Given the description of an element on the screen output the (x, y) to click on. 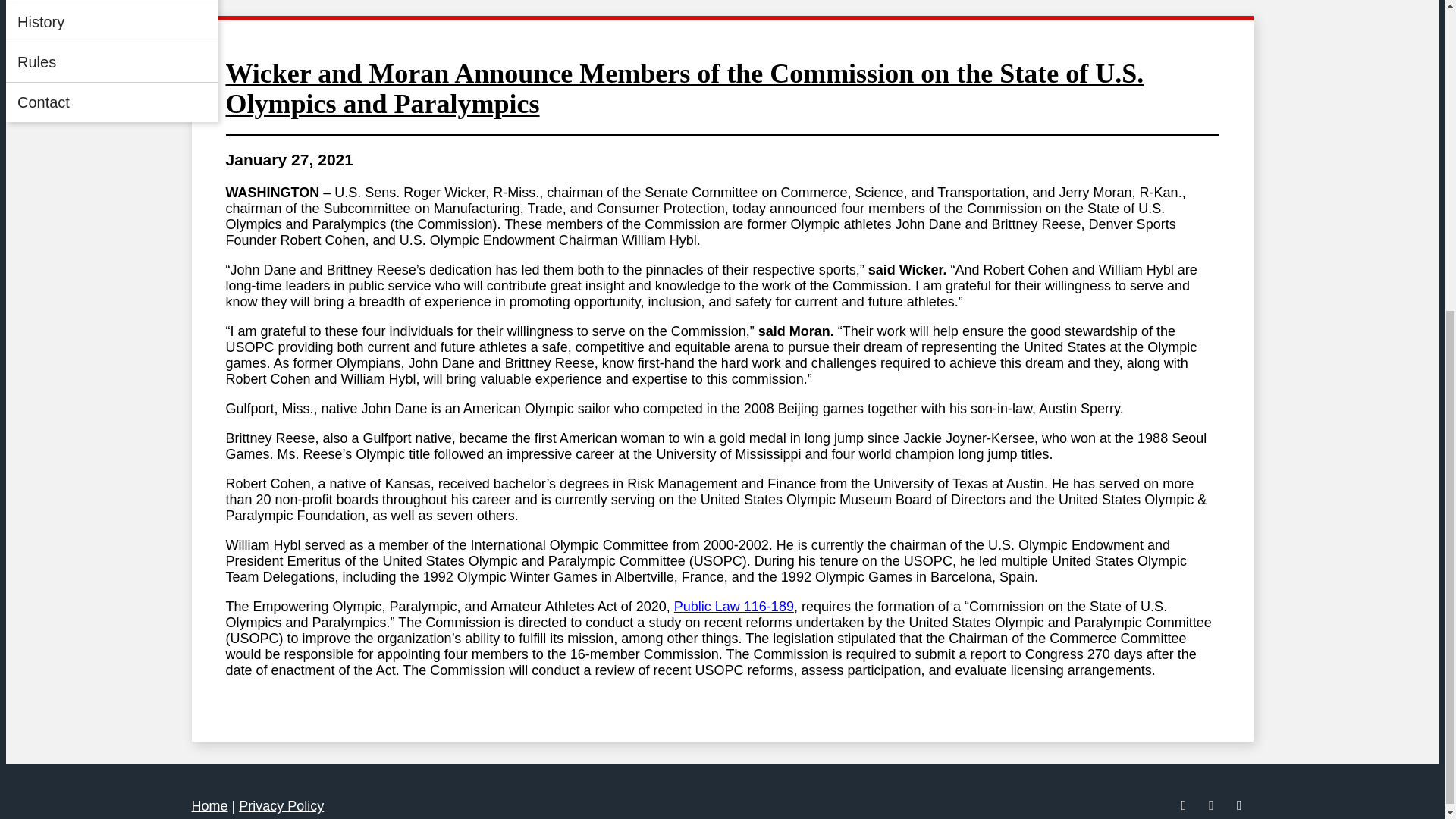
Rules (111, 61)
Contact (111, 102)
History (111, 21)
